Given the description of an element on the screen output the (x, y) to click on. 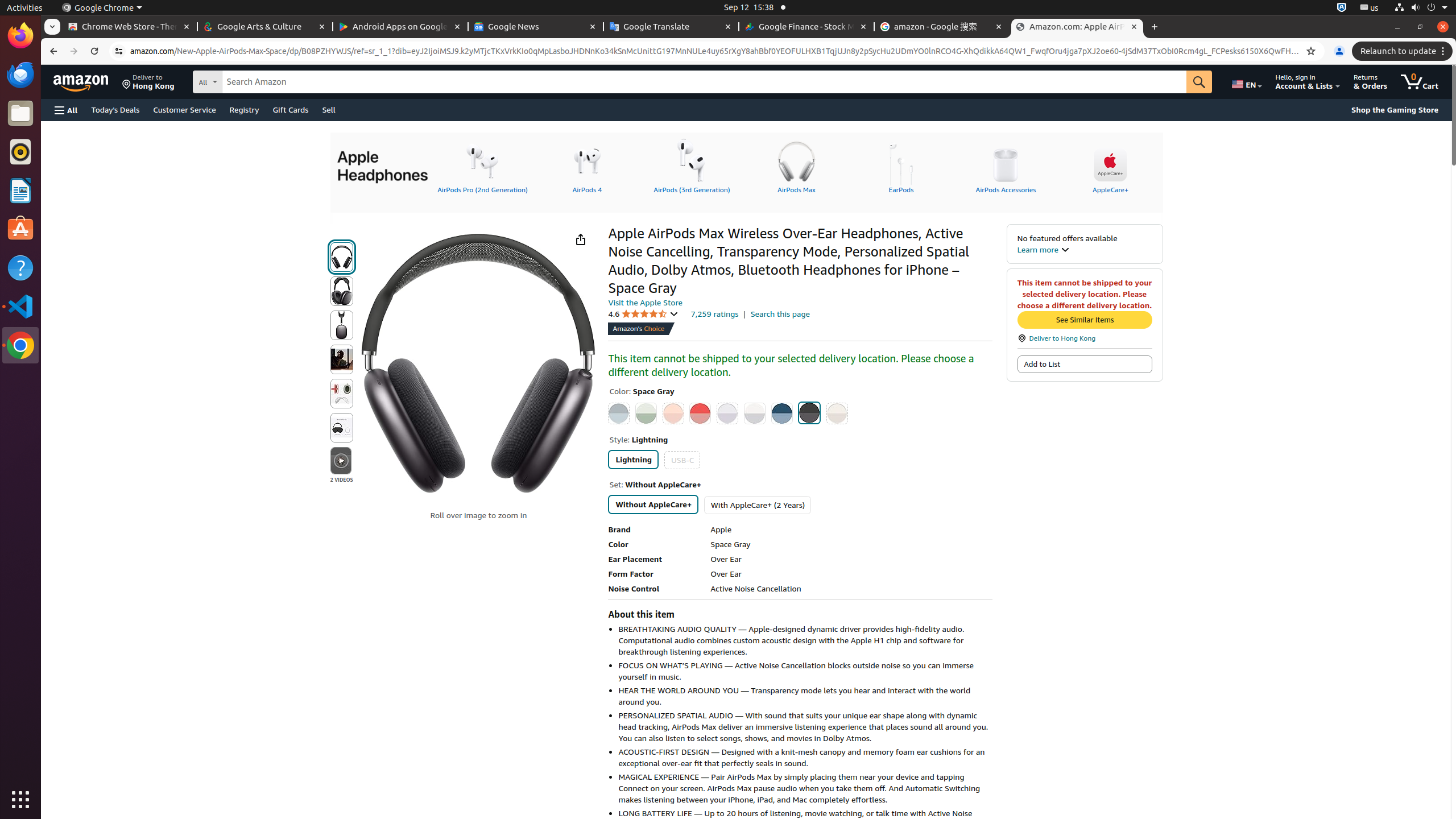
amazon - Google 搜索 - Memory usage - 87.3 MB Element type: page-tab (941, 26)
AirPods 4 Element type: link (587, 165)
Green Element type: push-button (645, 412)
AirPods (3rd Generation) Element type: link (691, 165)
All Departments Element type: menu-item (249, 80)
